Given the description of an element on the screen output the (x, y) to click on. 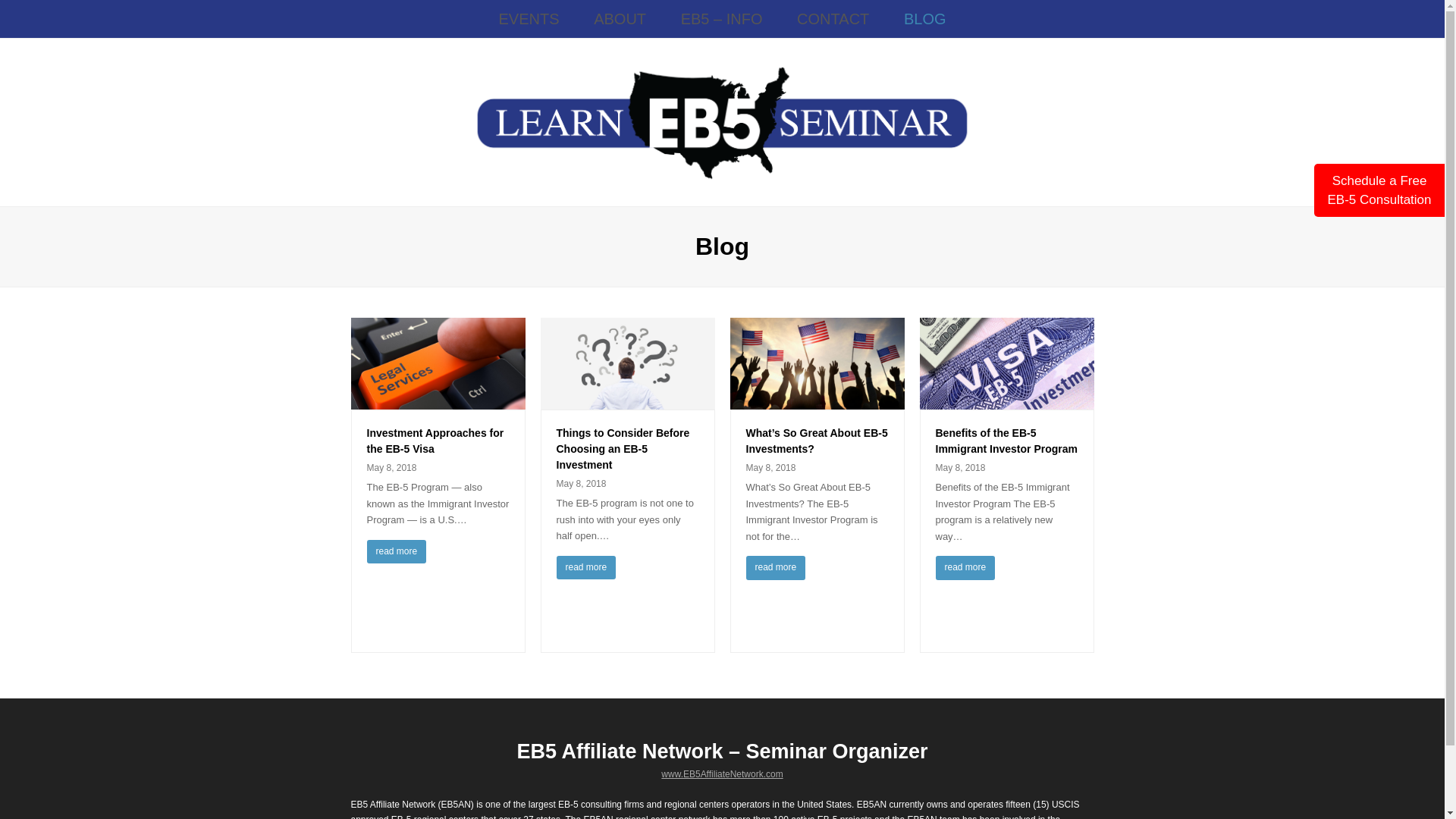
www.EB5AffiliateNetwork.com (722, 774)
Benefits of the EB-5 Immigrant Investor Program (1005, 400)
BLOG (925, 18)
read more (585, 567)
CONTACT (832, 18)
read more (965, 567)
Things to Consider Before Choosing an EB-5 Investment (627, 400)
read more (775, 567)
ABOUT (620, 18)
EVENTS (528, 18)
read more (396, 551)
Benefits of the EB-5 Immigrant Investor Program (1007, 440)
Investment Approaches for the EB-5 Visa (437, 400)
Investment Approaches for the EB-5 Visa (434, 440)
Things to Consider Before Choosing an EB-5 Investment (623, 448)
